Given the description of an element on the screen output the (x, y) to click on. 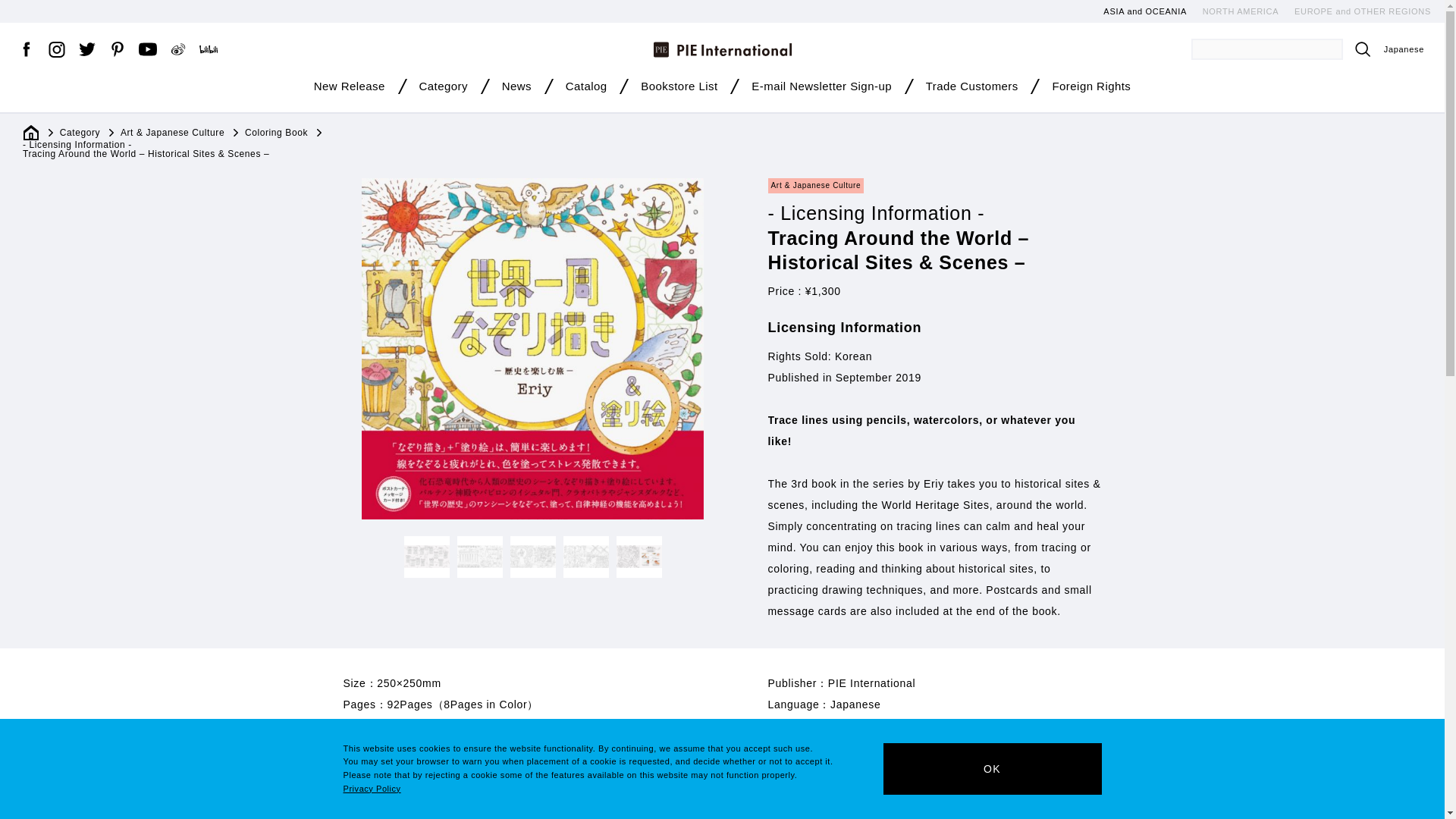
New Release (349, 89)
E-mail Newsletter Sign-up (821, 89)
Trade Customers (971, 89)
Japanese (1403, 48)
Foreign Rights (1091, 89)
Bookstore List (678, 89)
Catalog (586, 89)
News (516, 89)
